Given the description of an element on the screen output the (x, y) to click on. 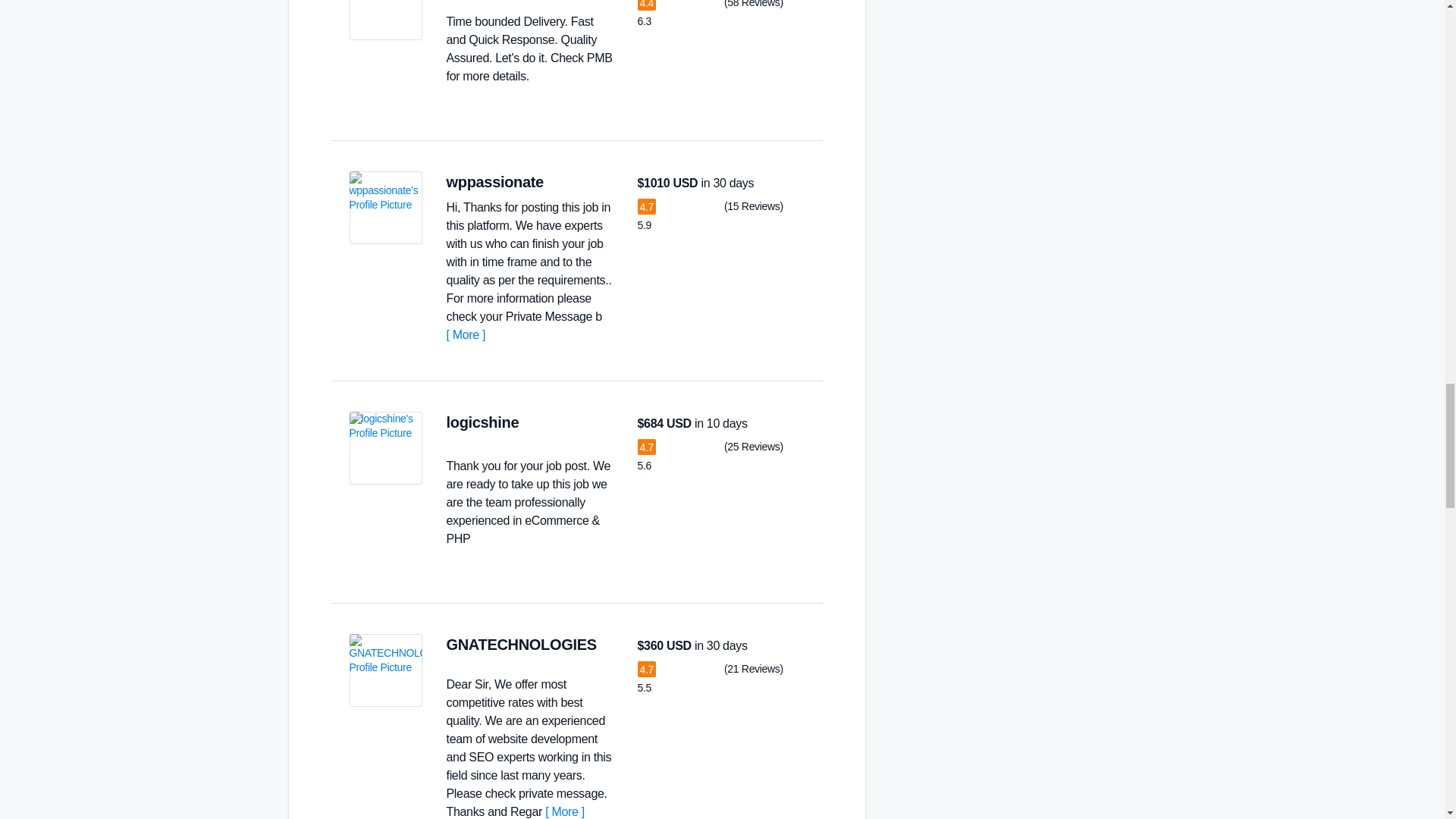
wppassionate (494, 181)
logicshine (481, 422)
View wppassionate's Profile (385, 207)
More (564, 811)
GNATECHNOLOGIES (520, 644)
More (464, 334)
View ganeshbaid's Profile (385, 20)
